Given the description of an element on the screen output the (x, y) to click on. 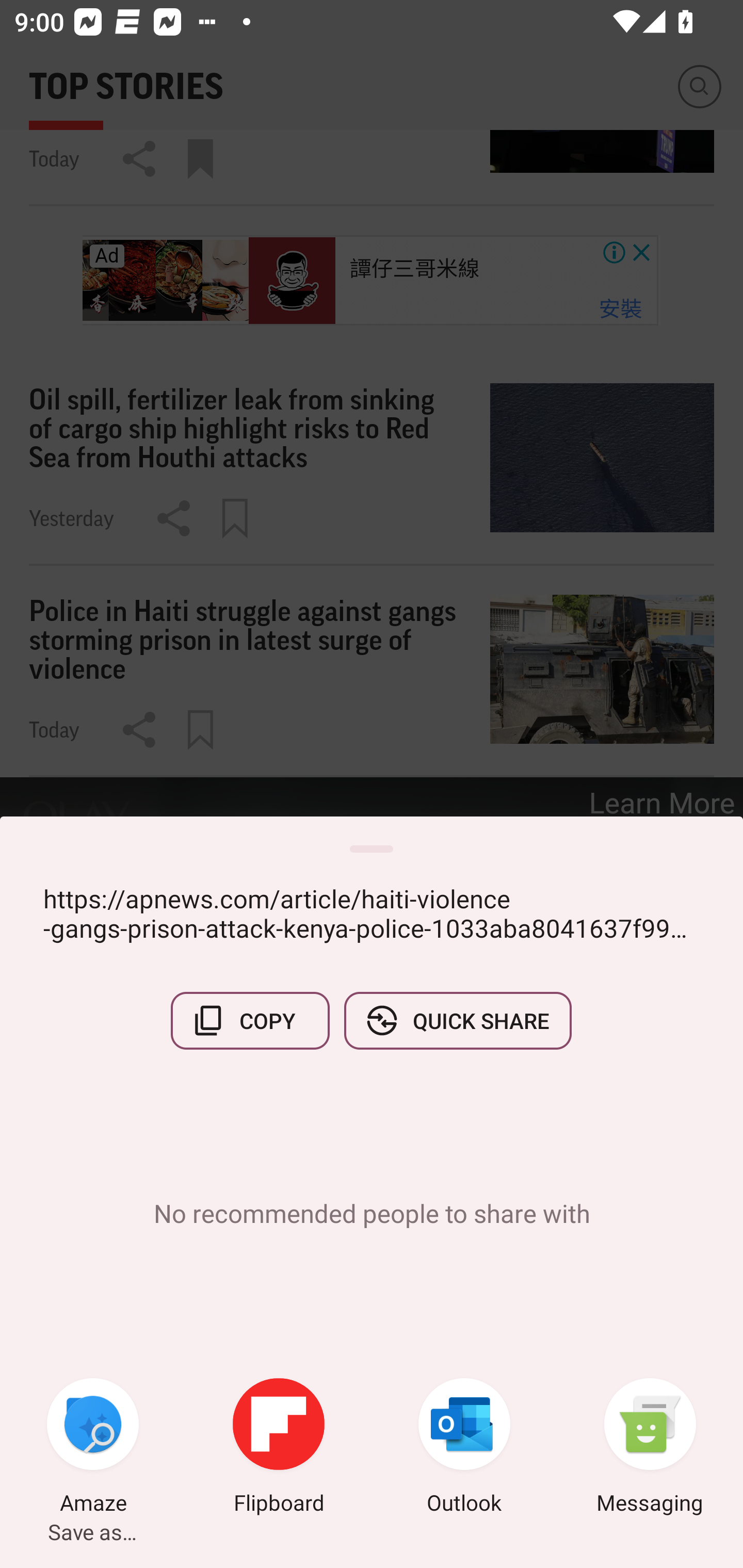
COPY (249, 1020)
QUICK SHARE (457, 1020)
Amaze Save as… (92, 1448)
Flipboard (278, 1448)
Outlook (464, 1448)
Messaging (650, 1448)
